Given the description of an element on the screen output the (x, y) to click on. 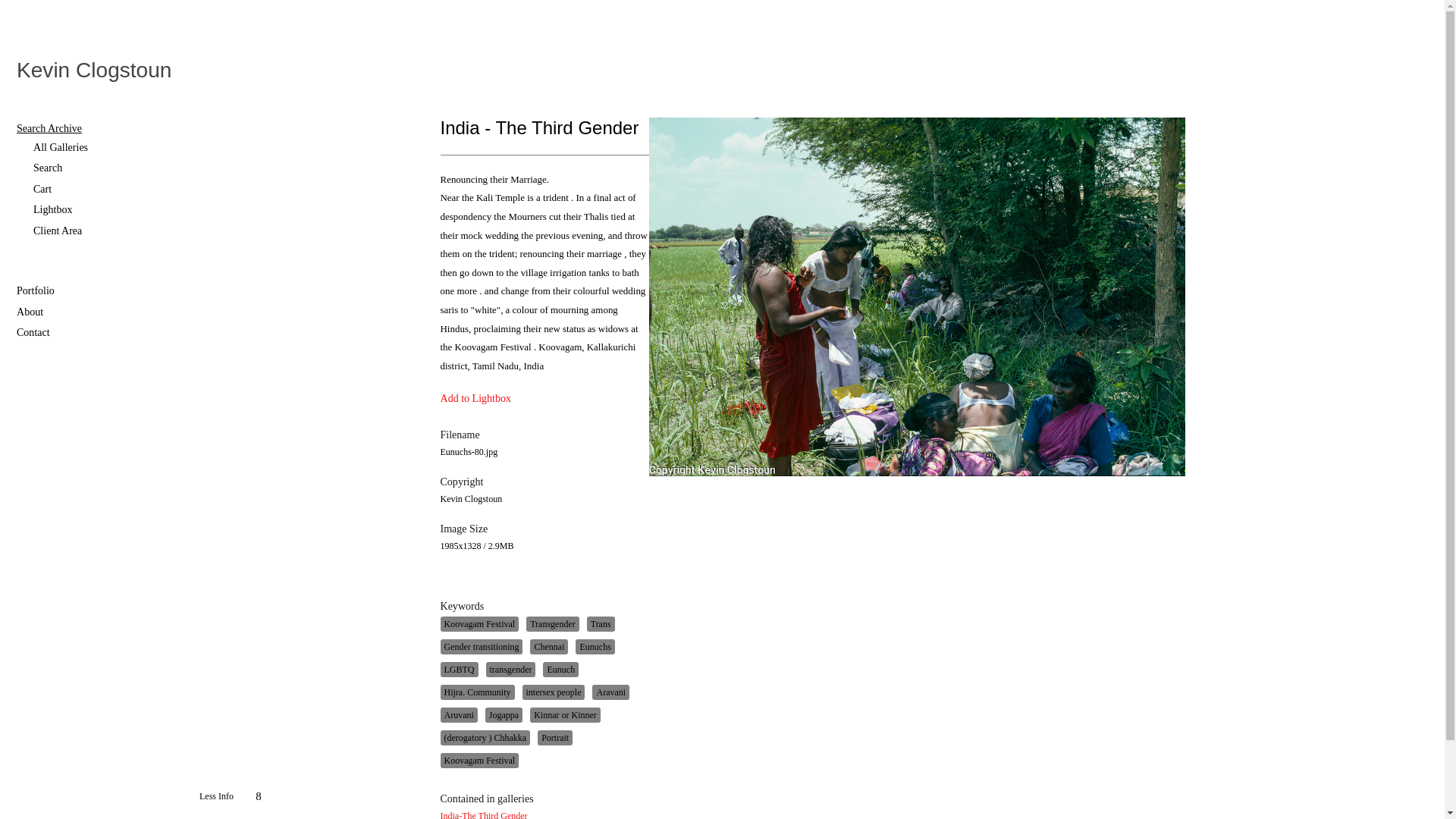
Kevin Clogstoun (93, 70)
Cart (106, 189)
transgender (509, 669)
Eunuchs (594, 646)
Portfolio (98, 291)
Lightbox (106, 210)
Aravani (610, 692)
Kevin Clogstoun (93, 70)
Trans (600, 623)
Gender transitioning (480, 646)
Contact (98, 332)
Koovagam Festival (478, 623)
All Galleries (106, 147)
LGBTQ (458, 669)
intersex people (553, 692)
